Given the description of an element on the screen output the (x, y) to click on. 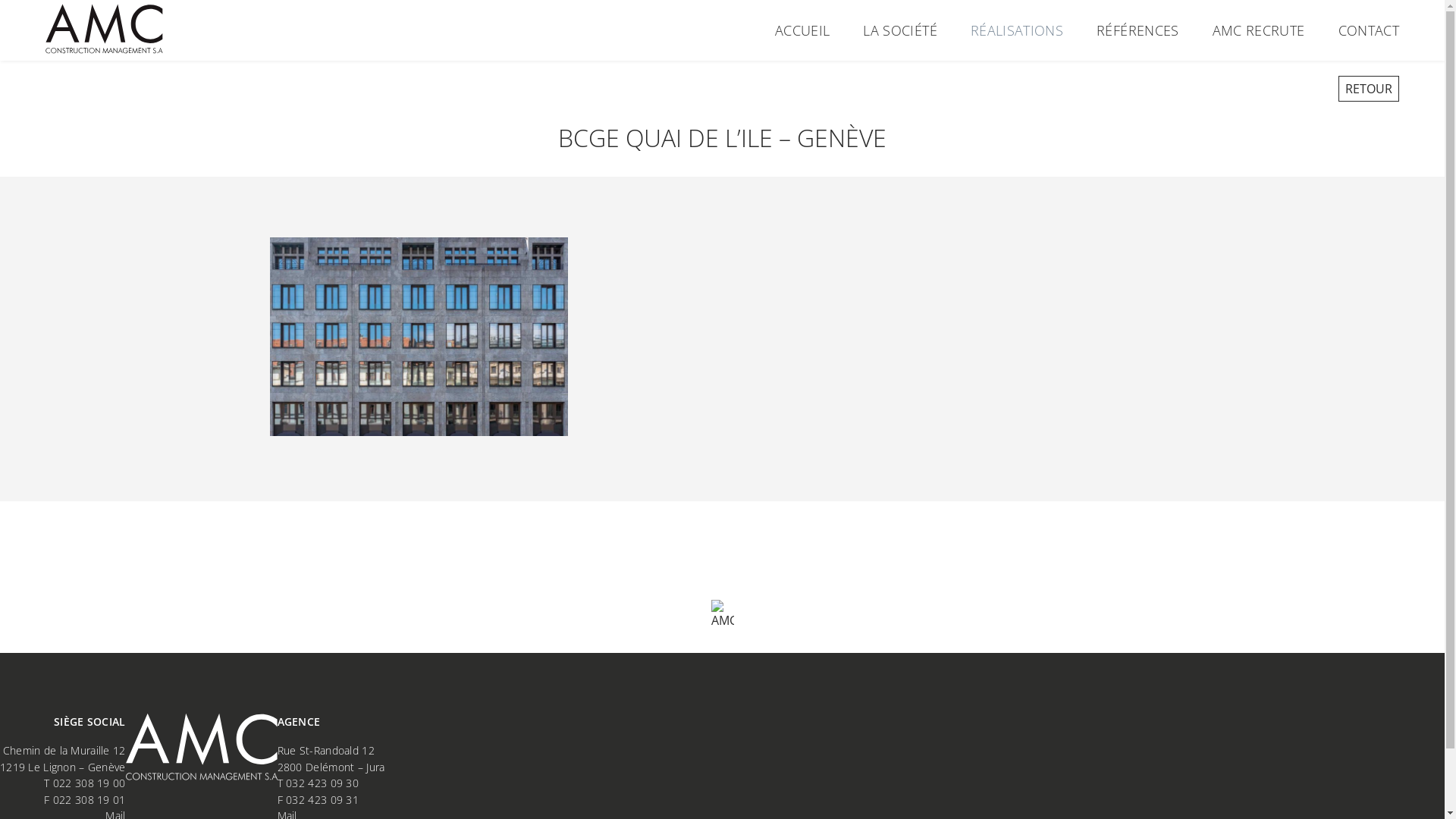
RETOUR Element type: text (1368, 88)
ACCUEIL Element type: text (802, 30)
AMC RECRUTE Element type: text (1258, 30)
CONTACT Element type: text (1368, 30)
